Given the description of an element on the screen output the (x, y) to click on. 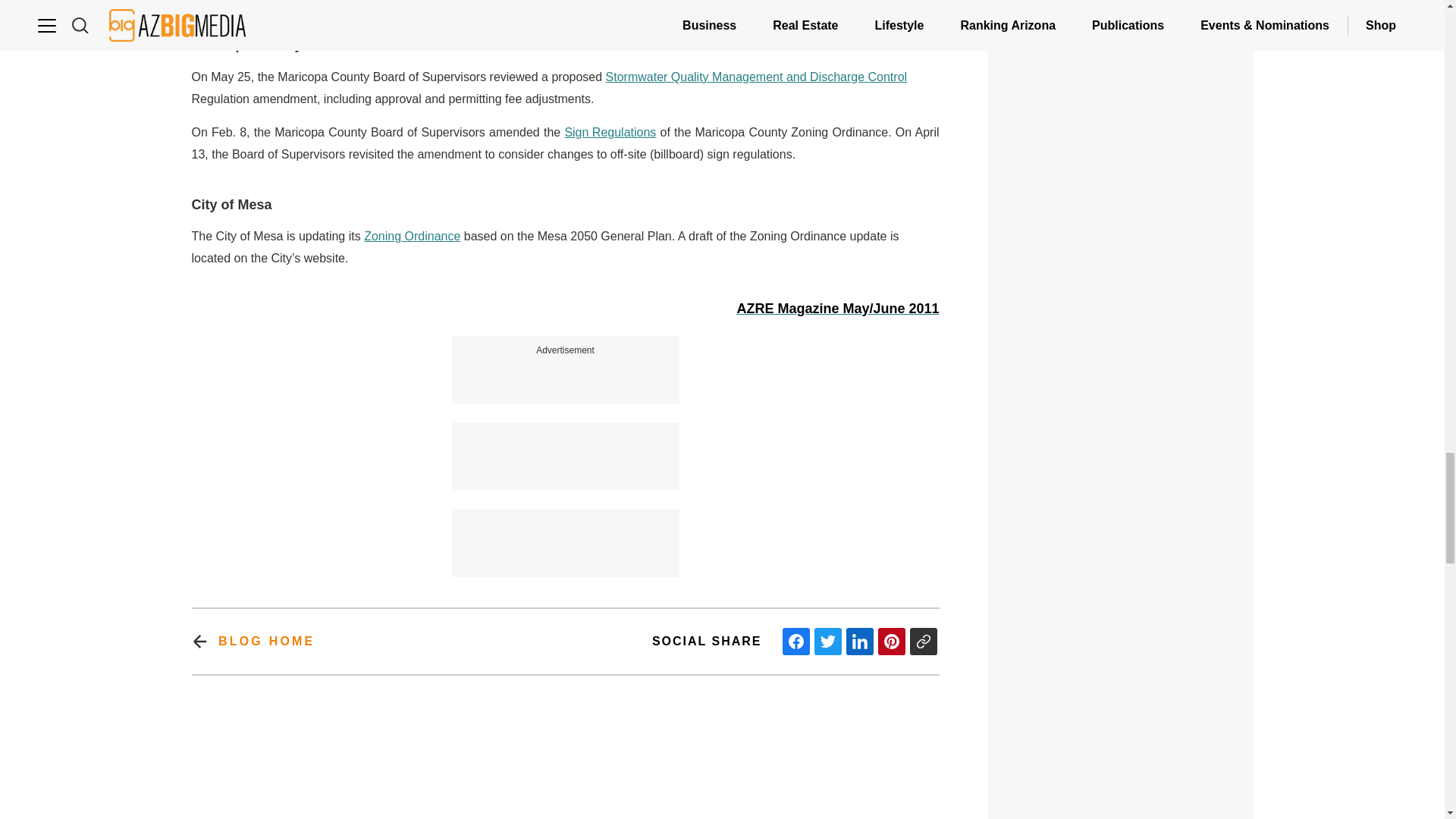
Visit the Maricopa County website. (756, 77)
Visit the City of Mesa website. (412, 237)
Visit the Maricopa County website. (610, 133)
